Given the description of an element on the screen output the (x, y) to click on. 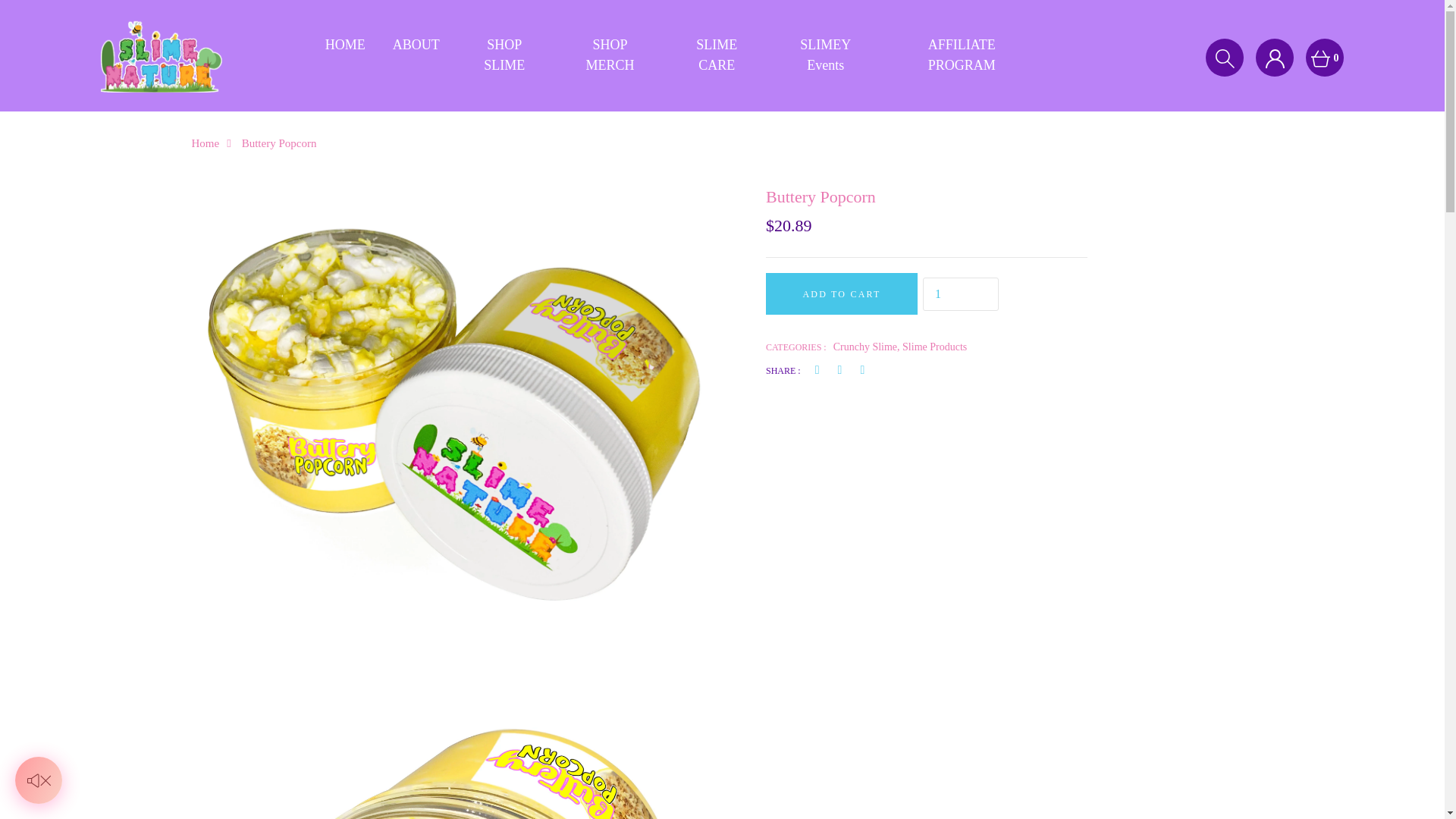
ABOUT (416, 44)
HOME (344, 44)
HOME (344, 44)
AFFILIATE PROGRAM (961, 54)
0 (1324, 57)
SLIMEY Events (826, 54)
SHOP MERCH (609, 54)
SLIME CARE (716, 54)
SHOP MERCH (609, 54)
SLIMEY Events (826, 54)
ABOUT (416, 44)
AFFILIATE PROGRAM (961, 54)
SHOP SLIME (504, 54)
1 (960, 294)
SLIME CARE (716, 54)
